Given the description of an element on the screen output the (x, y) to click on. 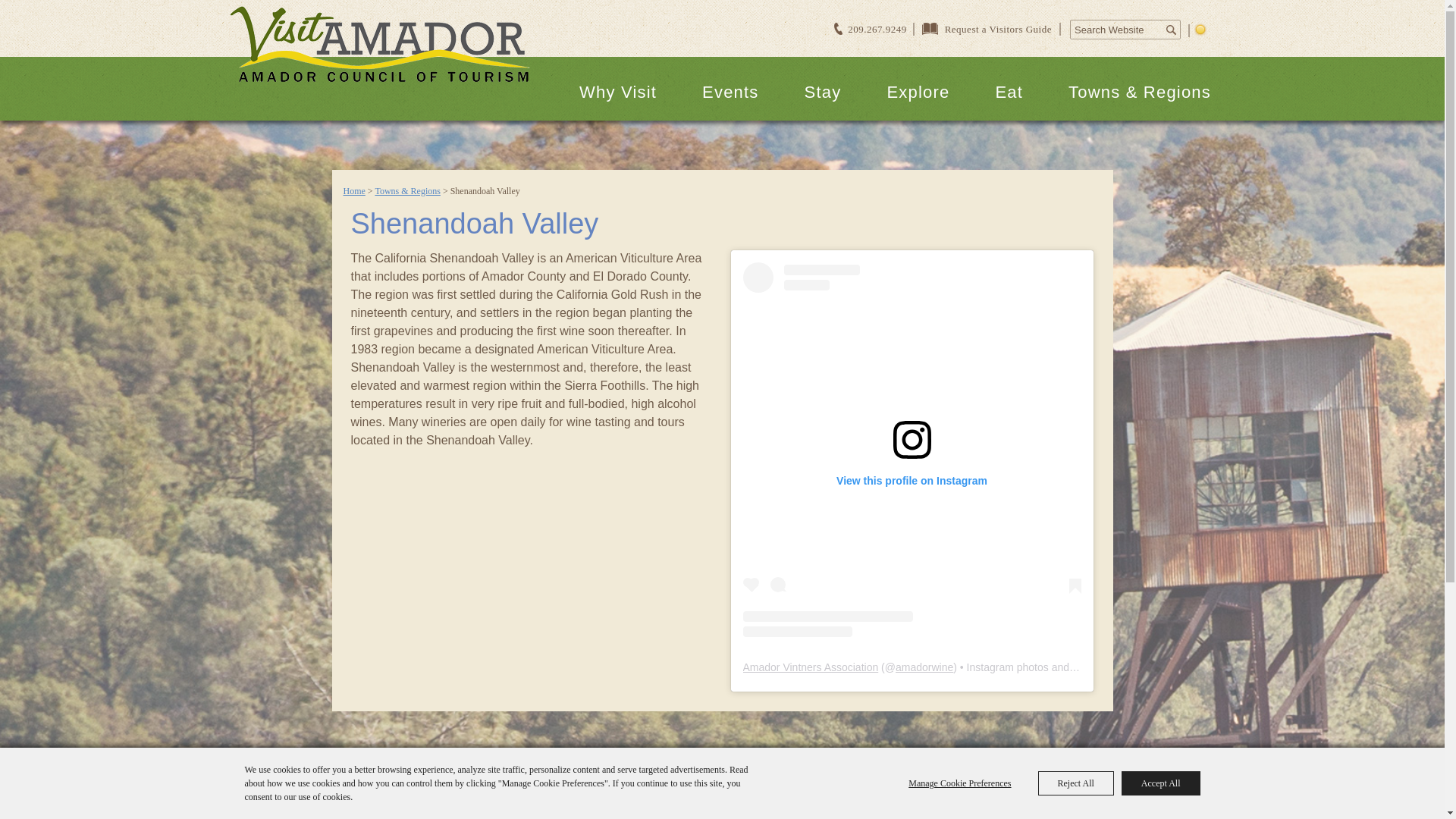
Stay (823, 91)
Search Website (1116, 29)
Why Visit (617, 91)
Request a Visitors Guide (995, 28)
Events (729, 91)
Search (1171, 29)
Search Website (1116, 29)
Explore (917, 91)
209.267.9249 (877, 28)
